Given the description of an element on the screen output the (x, y) to click on. 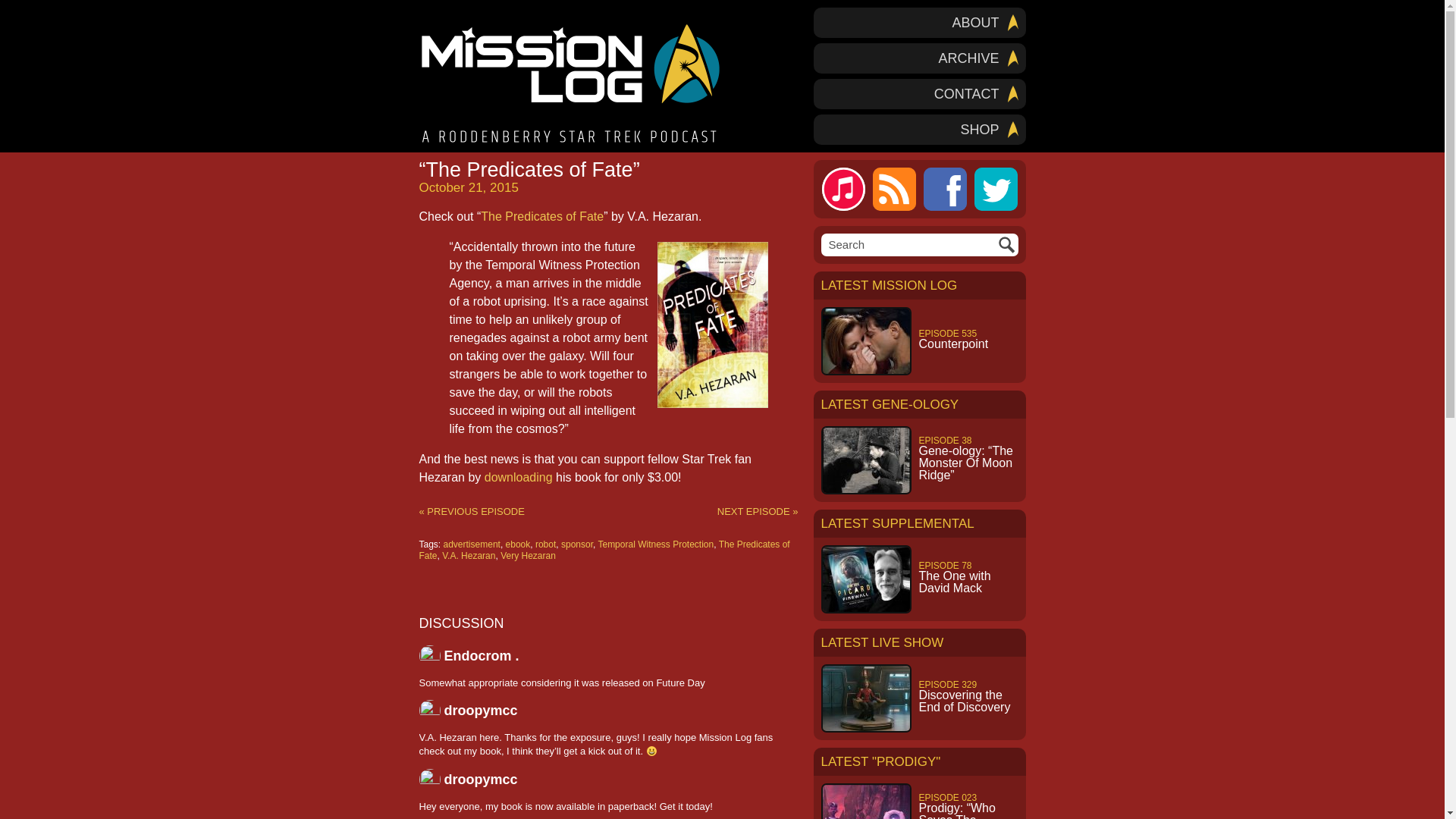
downloading (518, 477)
Very Hezaran (528, 555)
Follow Us on Twitter (995, 188)
ebook (919, 698)
V.A. Hezaran (518, 543)
ABOUT (468, 555)
Subscribe via iTunes (918, 22)
iTunes (843, 188)
ARCHIVE (843, 188)
SHOP (918, 58)
Temporal Witness Protection (918, 129)
Twitter (654, 543)
Subscribe via RSS (995, 188)
Search (893, 188)
